Given the description of an element on the screen output the (x, y) to click on. 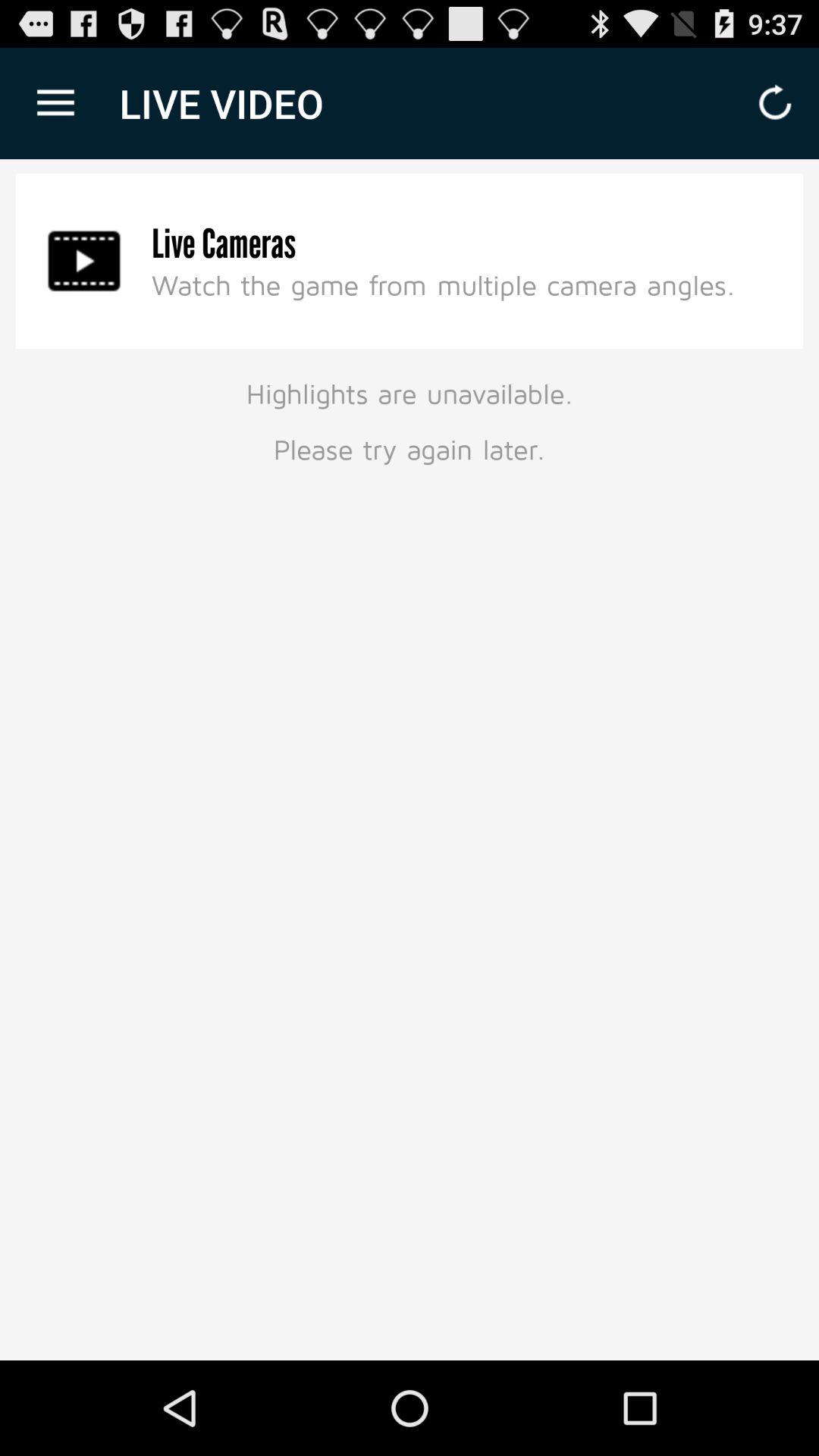
press the icon above highlights are unavailable item (443, 284)
